Given the description of an element on the screen output the (x, y) to click on. 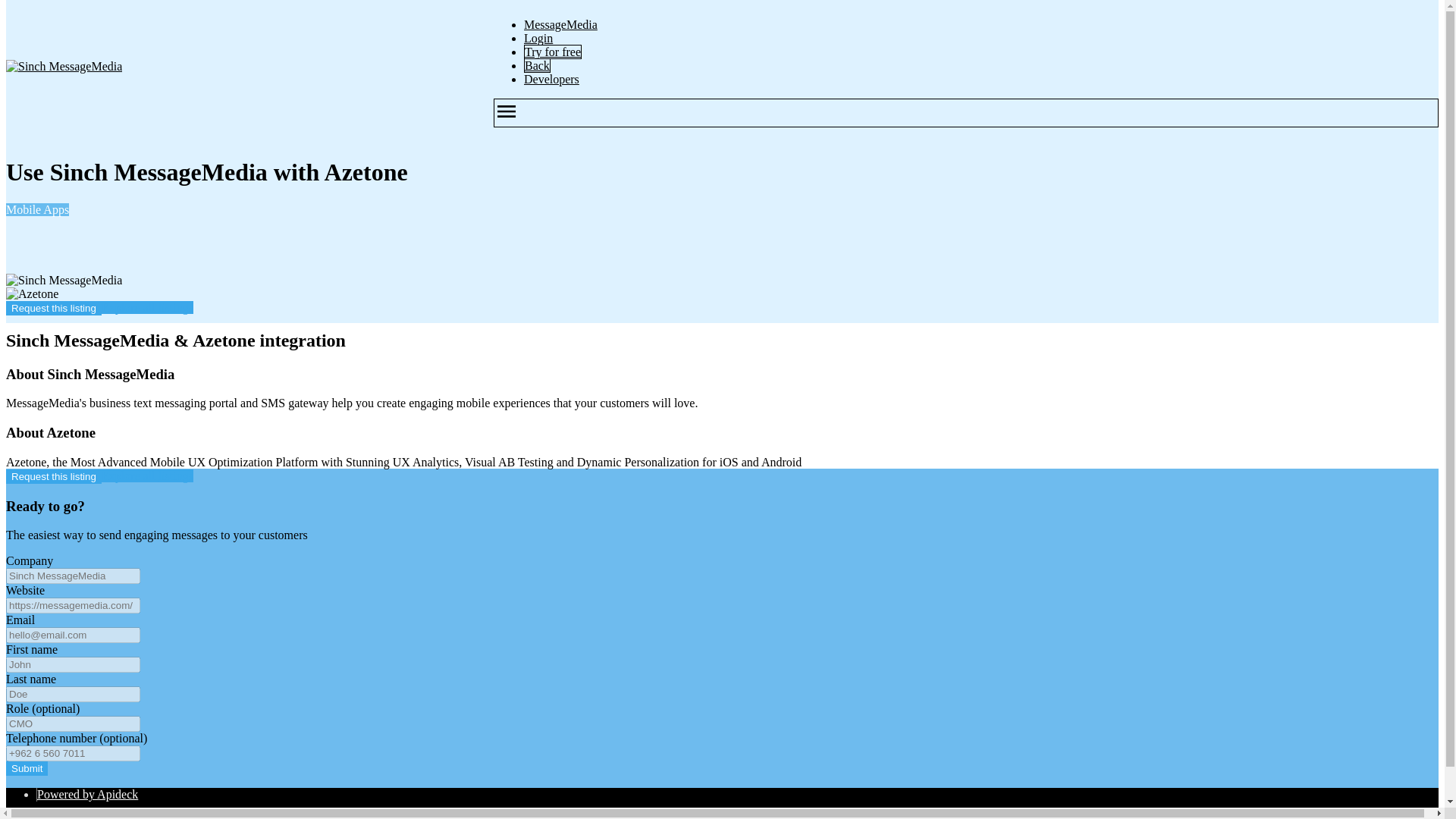
MessageMedia (560, 24)
Request this listing (53, 308)
Sinch MessageMedia (63, 280)
Login (538, 38)
Explore all listings (147, 475)
Try for free (552, 51)
Back (537, 65)
Catalog (56, 816)
Powered by Apideck (87, 793)
Explore all listings (147, 307)
